Given the description of an element on the screen output the (x, y) to click on. 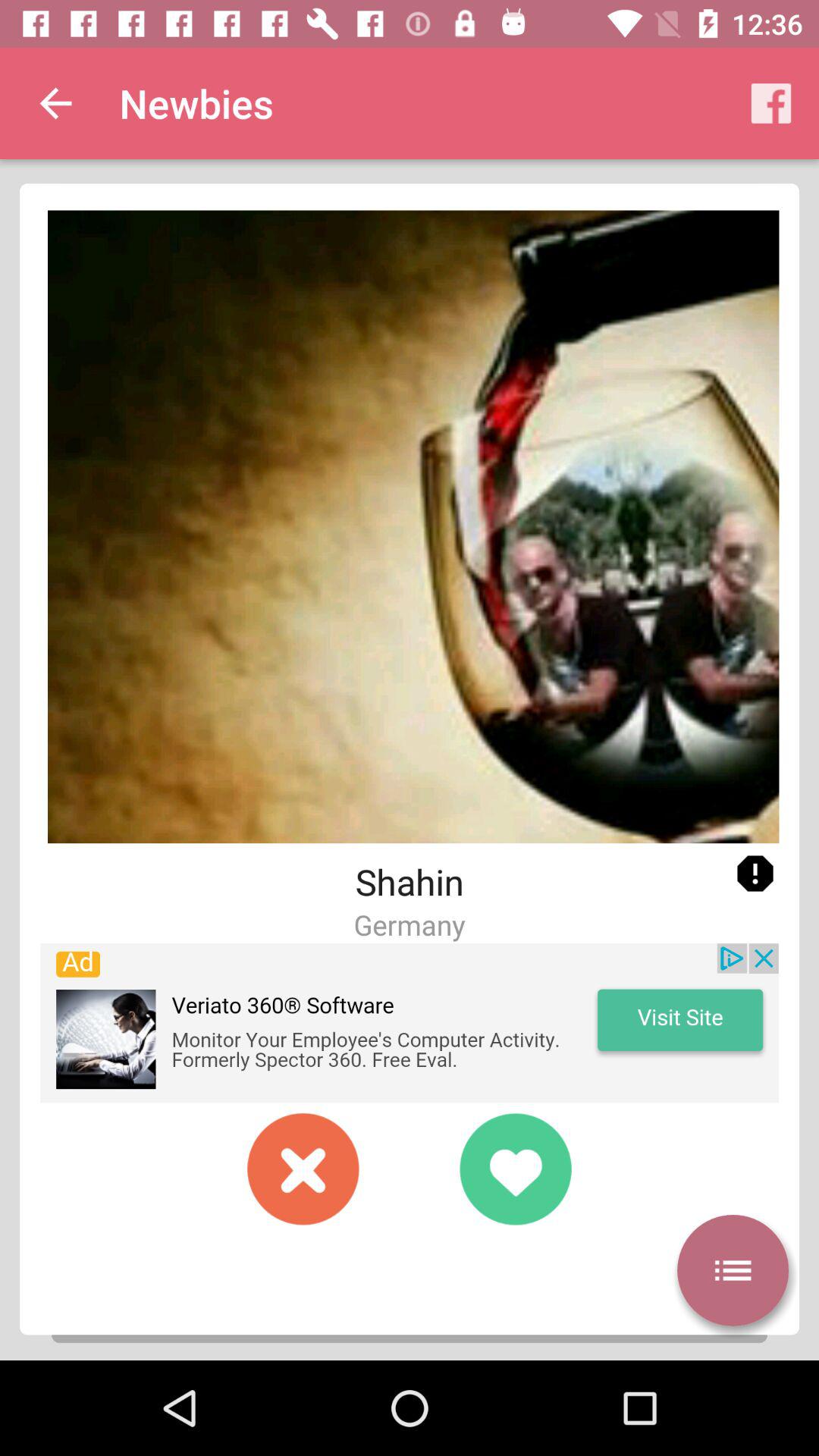
close the file (303, 1169)
